Given the description of an element on the screen output the (x, y) to click on. 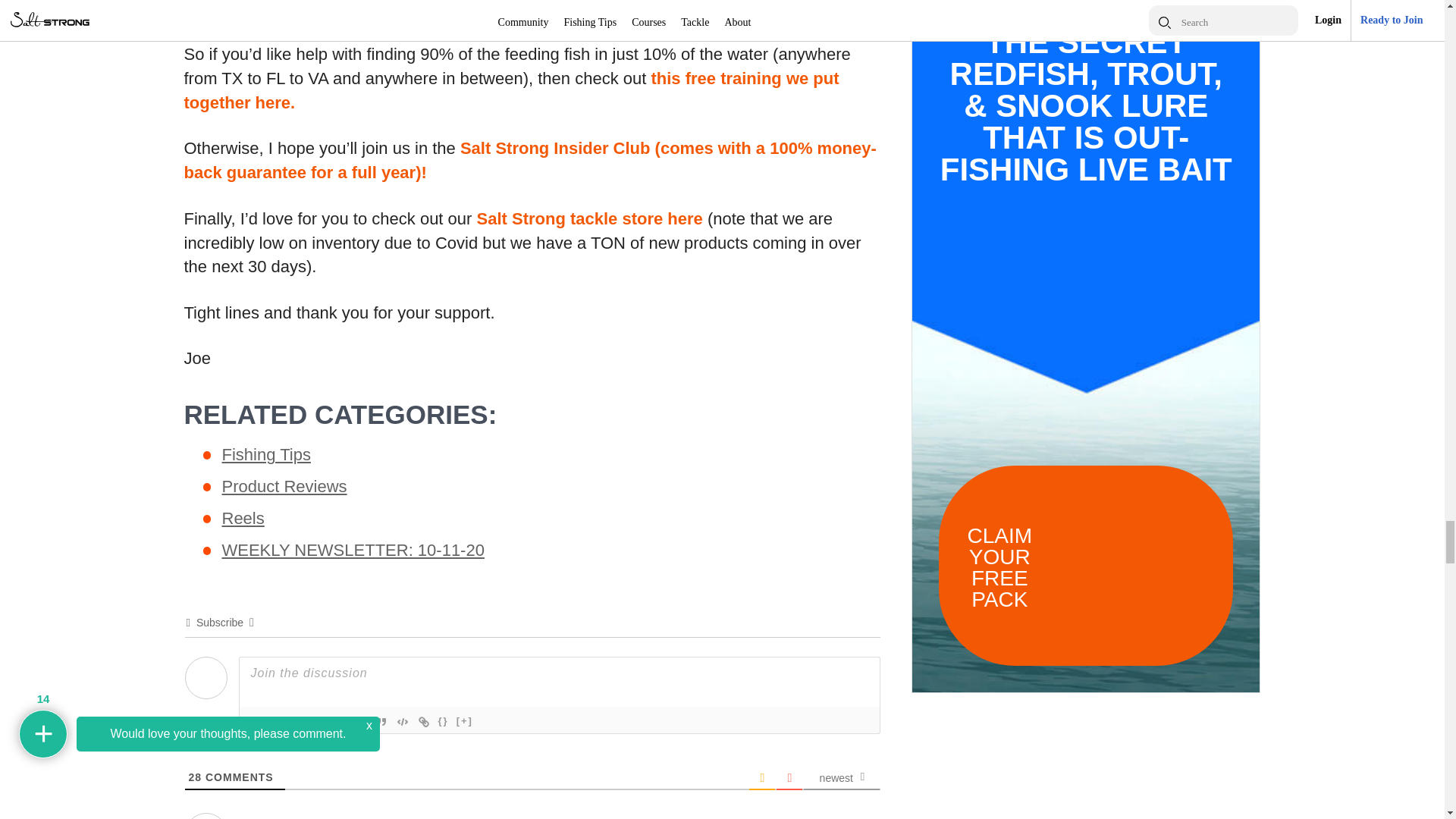
Link (422, 721)
Code Block (401, 721)
Fishing Tips (352, 454)
this free training we put together here. (510, 90)
Italic (274, 721)
Unordered List (359, 721)
Spoiler (464, 721)
Source Code (442, 721)
Reels (352, 518)
WEEKLY NEWSLETTER: 10-11-20 (352, 550)
Salt Strong tackle store here (588, 218)
Strike (316, 721)
Bold (253, 721)
Product Reviews (352, 486)
Blockquote (380, 721)
